Given the description of an element on the screen output the (x, y) to click on. 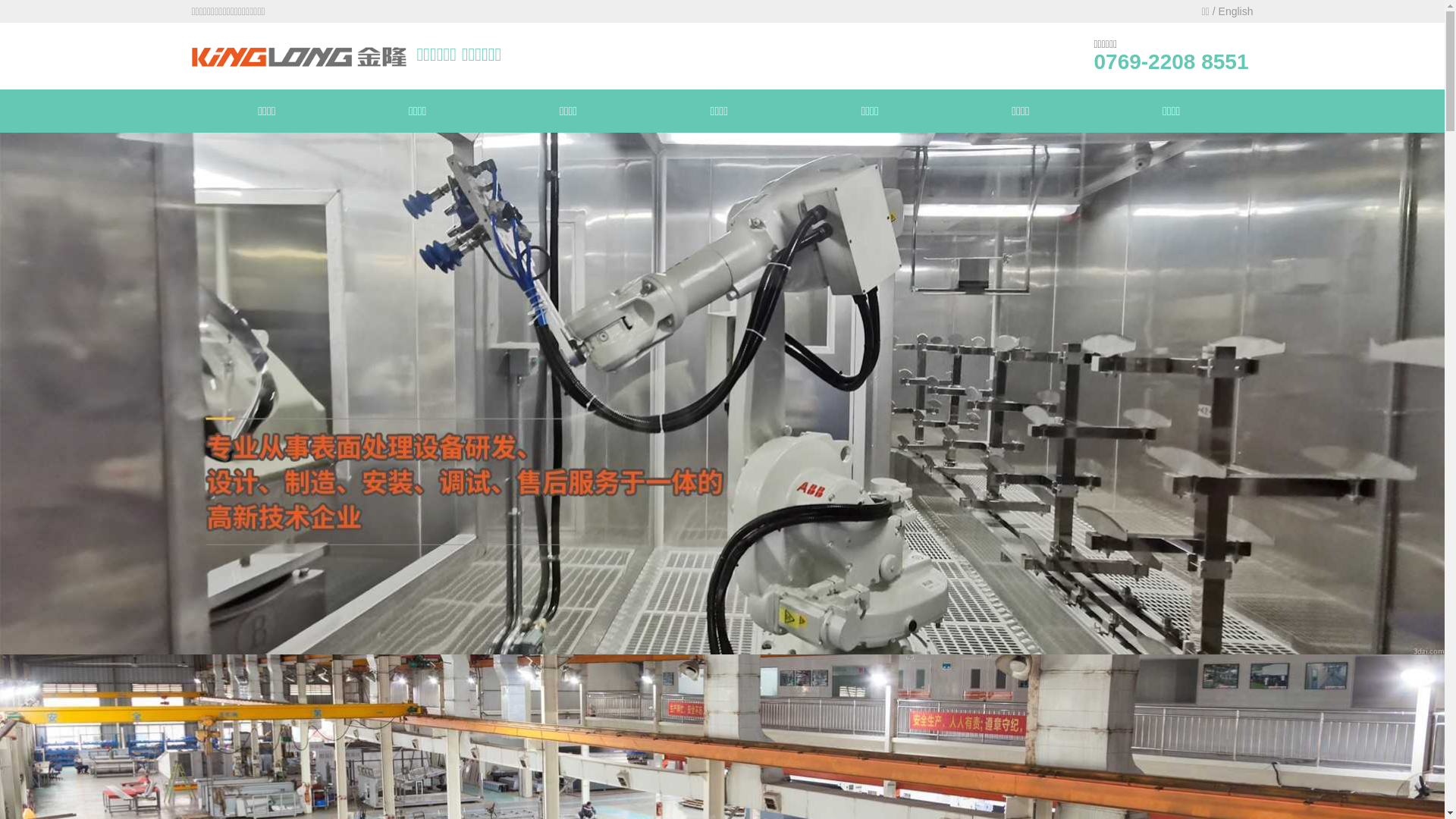
English Element type: text (1235, 11)
